Given the description of an element on the screen output the (x, y) to click on. 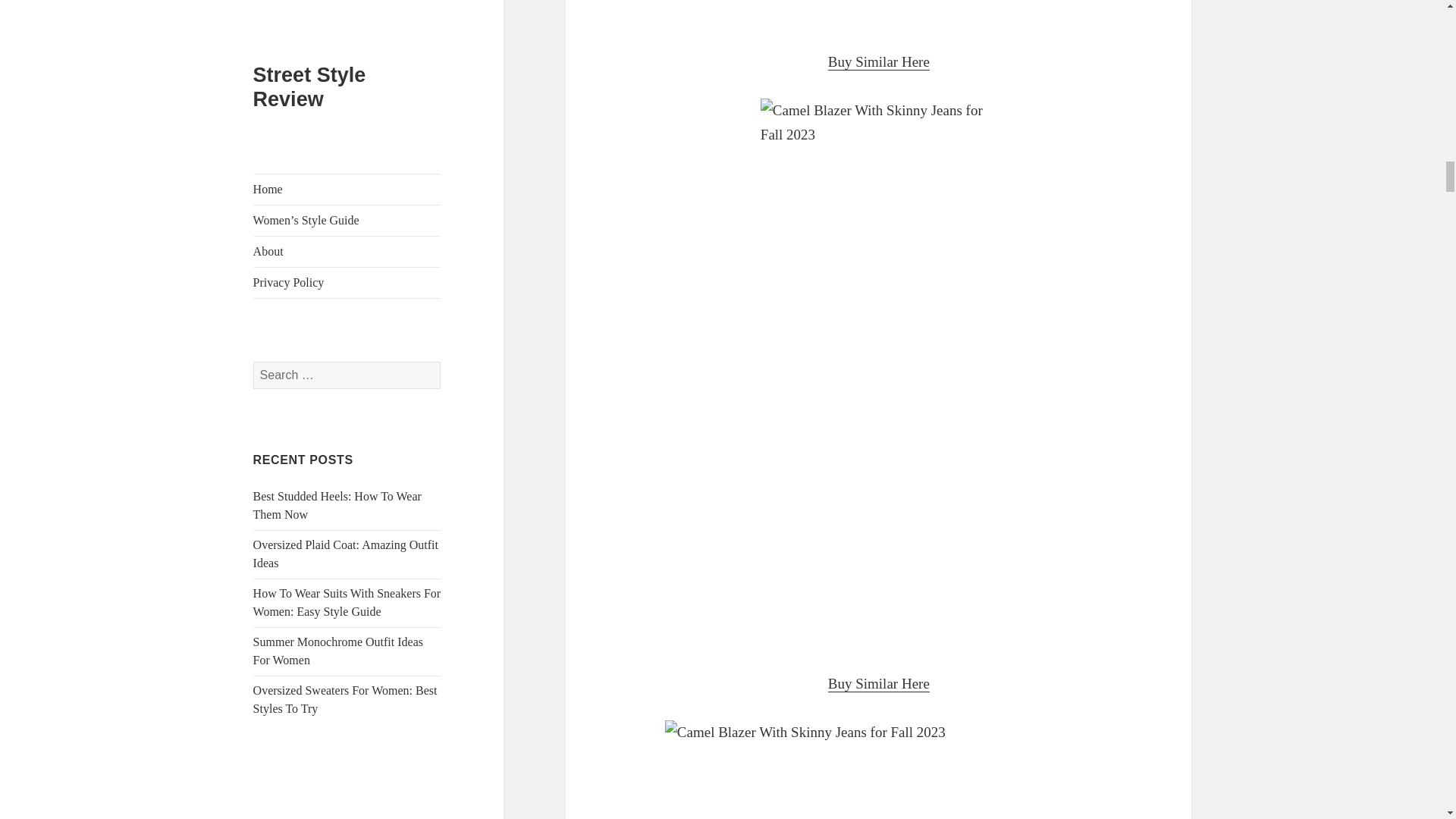
Buy Similar Here (879, 683)
Camel Blazer With Skinny Jeans for Fall 2023 (879, 769)
Camel Blazer With Skinny Jeans for Fall 2023 (878, 12)
Buy Similar Here (879, 62)
